Given the description of an element on the screen output the (x, y) to click on. 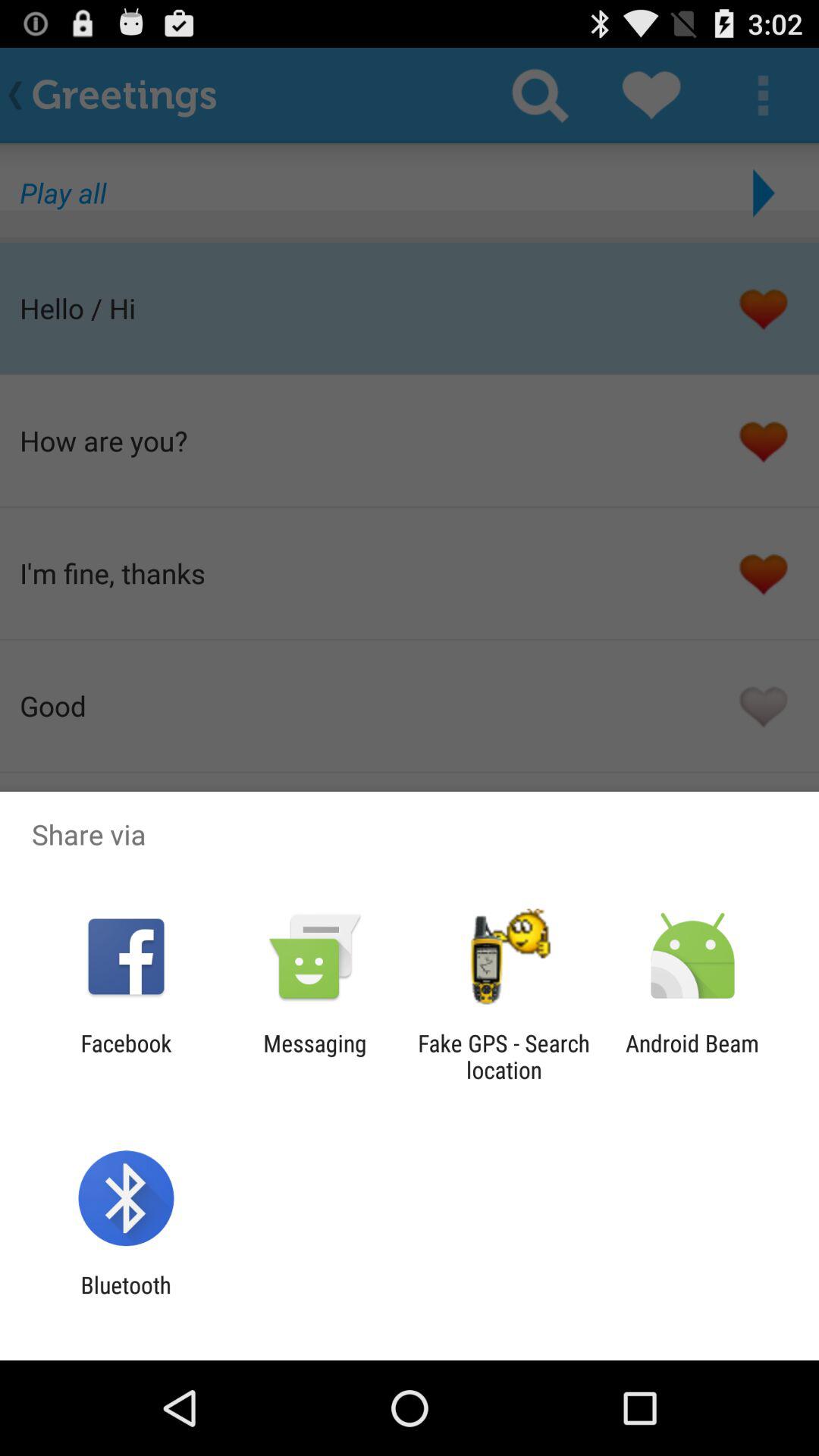
flip to the android beam app (692, 1056)
